Given the description of an element on the screen output the (x, y) to click on. 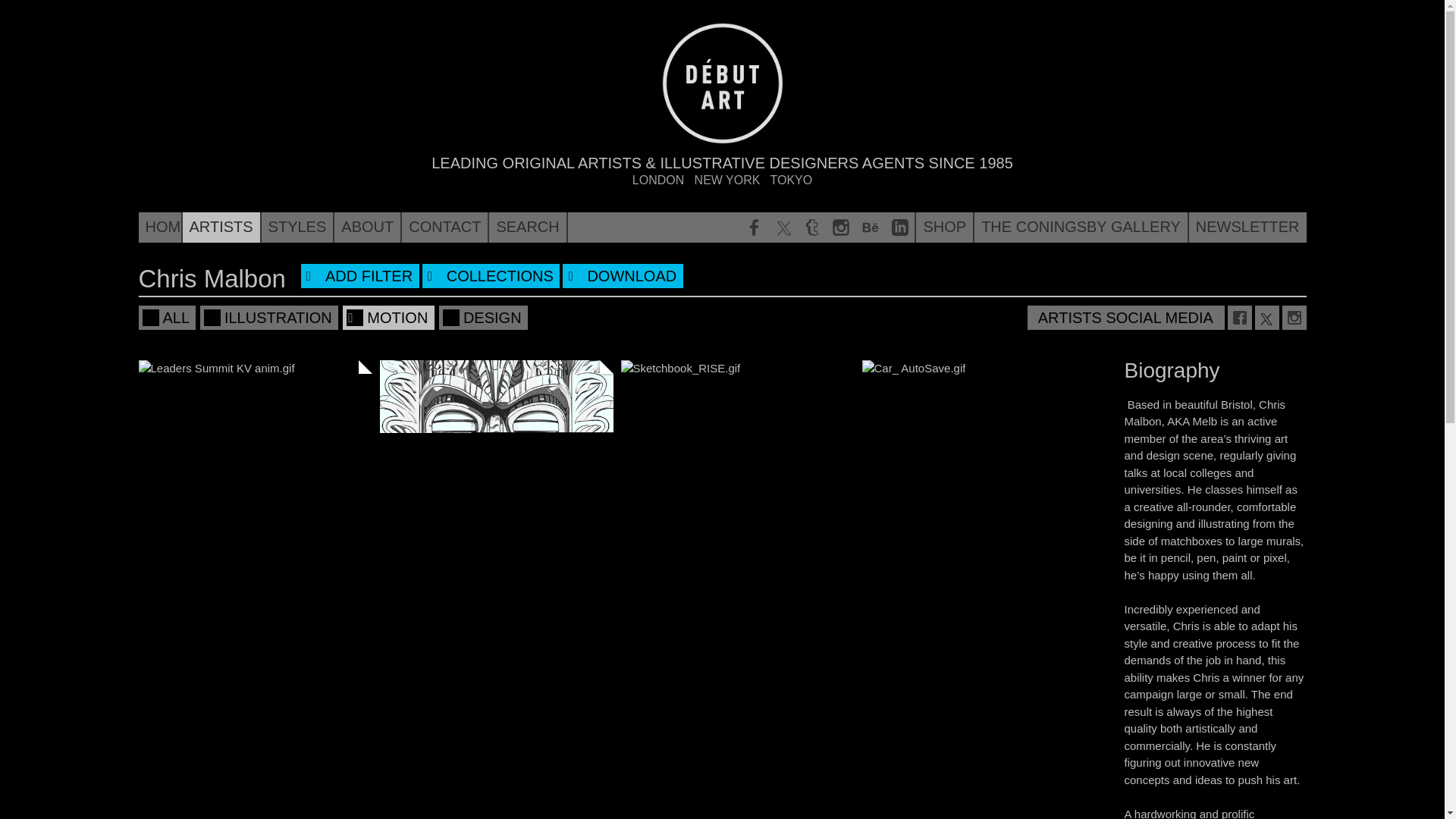
MOTION (390, 319)
DESIGN (485, 319)
NEW YORK (727, 179)
LONDON (657, 179)
ILLUSTRATION (270, 319)
TOKYO (791, 179)
ALL (168, 319)
